Given the description of an element on the screen output the (x, y) to click on. 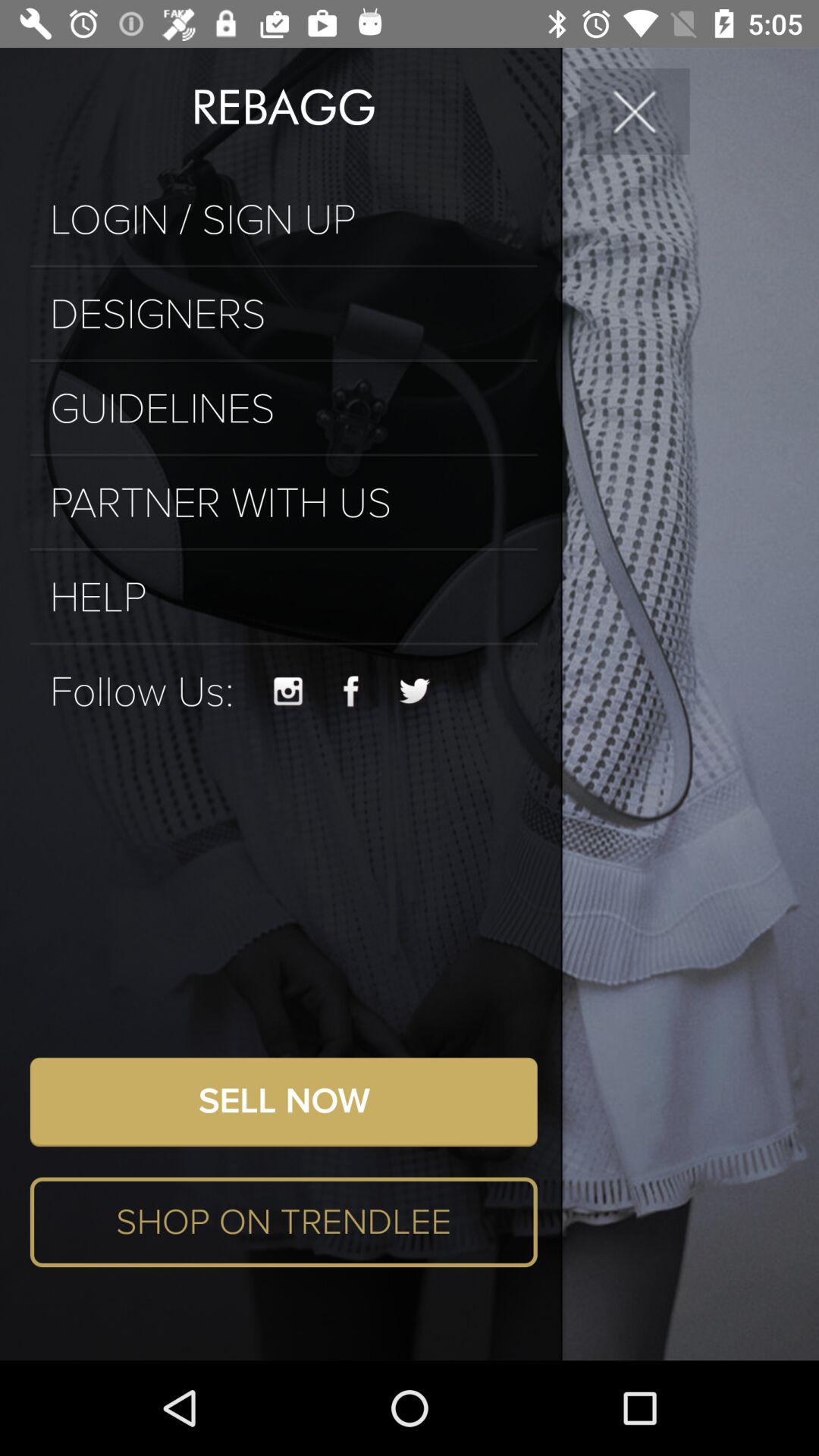
turn on partner with us (283, 503)
